Given the description of an element on the screen output the (x, y) to click on. 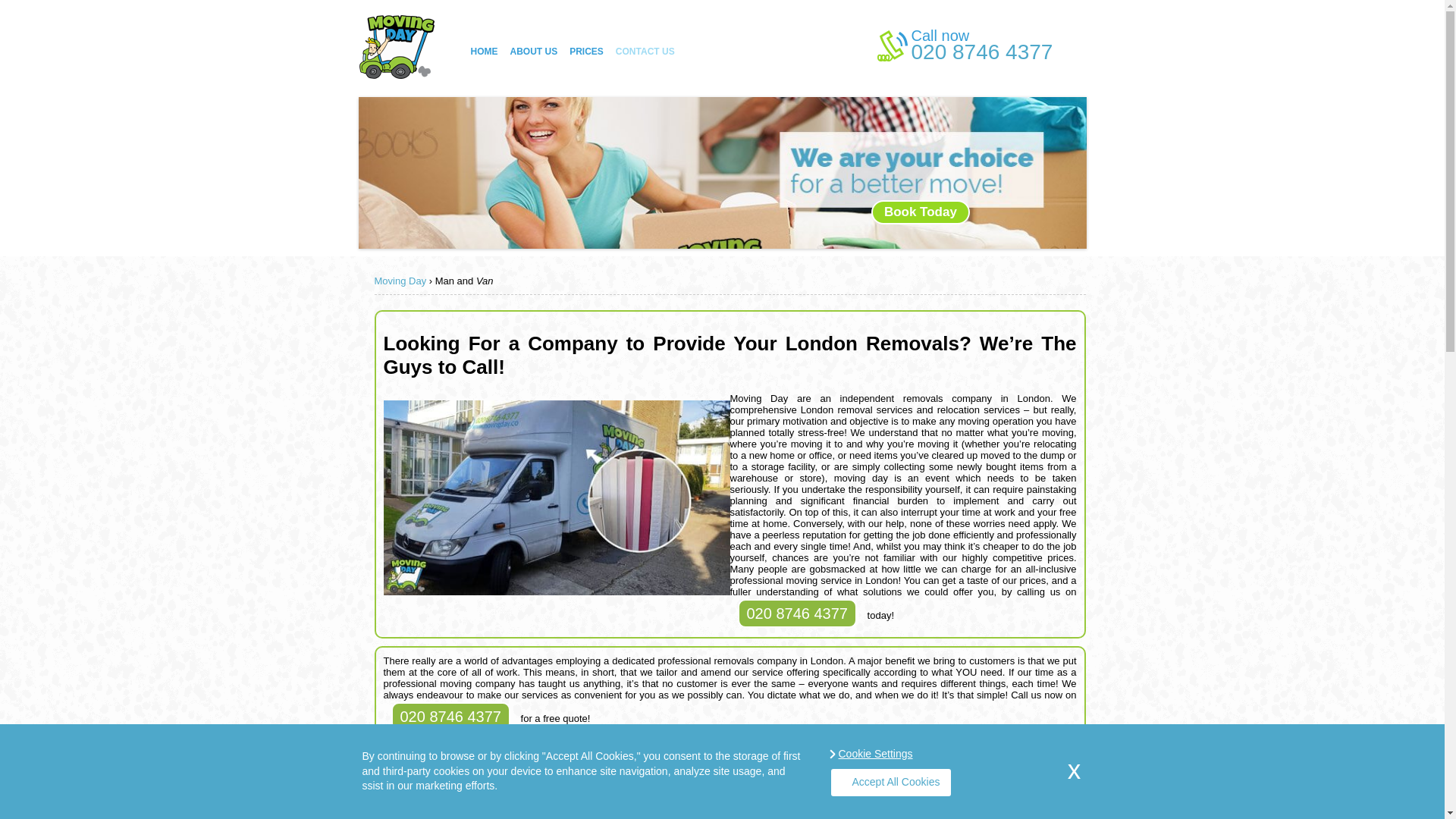
020 8746 4377 (451, 716)
Removals London House and Office Relocation in London Movers (395, 79)
HOME (483, 51)
Book Today (919, 211)
020 8746 4377 (981, 51)
About Us (533, 51)
020 8746 4377 (981, 51)
Home (483, 51)
Book Today (919, 211)
ABOUT US (533, 51)
